Given the description of an element on the screen output the (x, y) to click on. 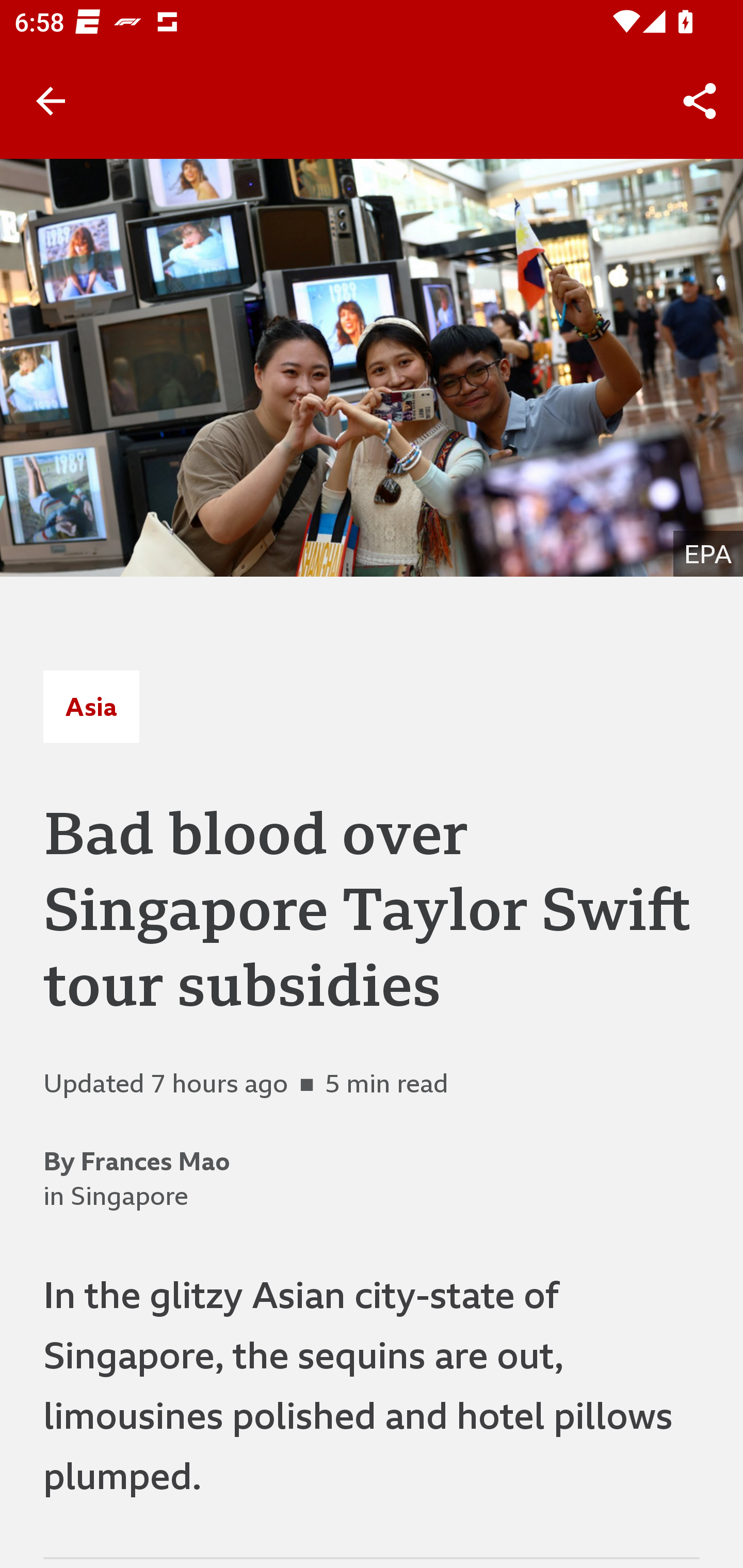
Back (50, 101)
Share (699, 101)
Asia (91, 706)
